Given the description of an element on the screen output the (x, y) to click on. 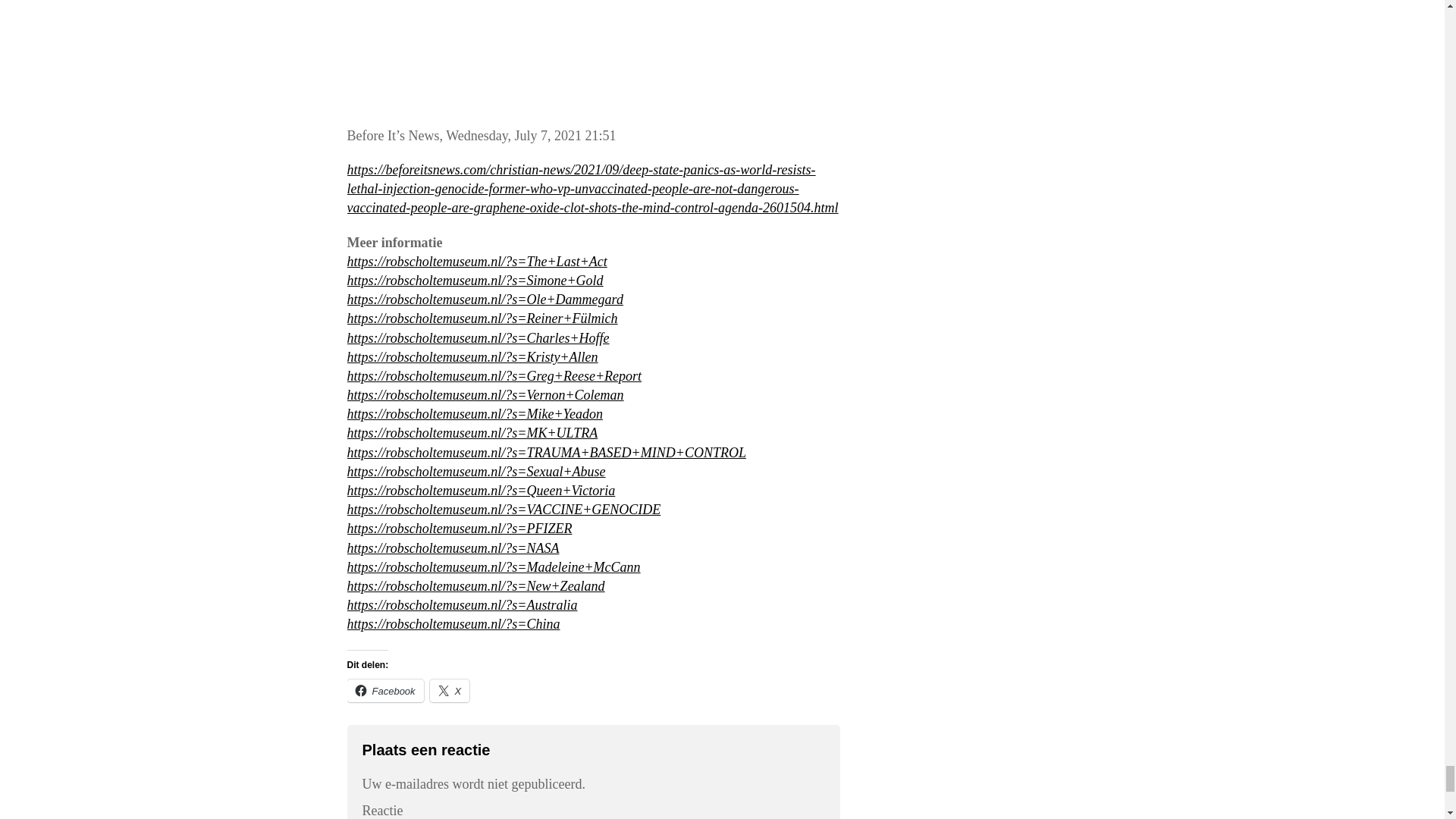
Klik om te delen op Facebook (385, 690)
Klik om te delen op X (449, 690)
